Given the description of an element on the screen output the (x, y) to click on. 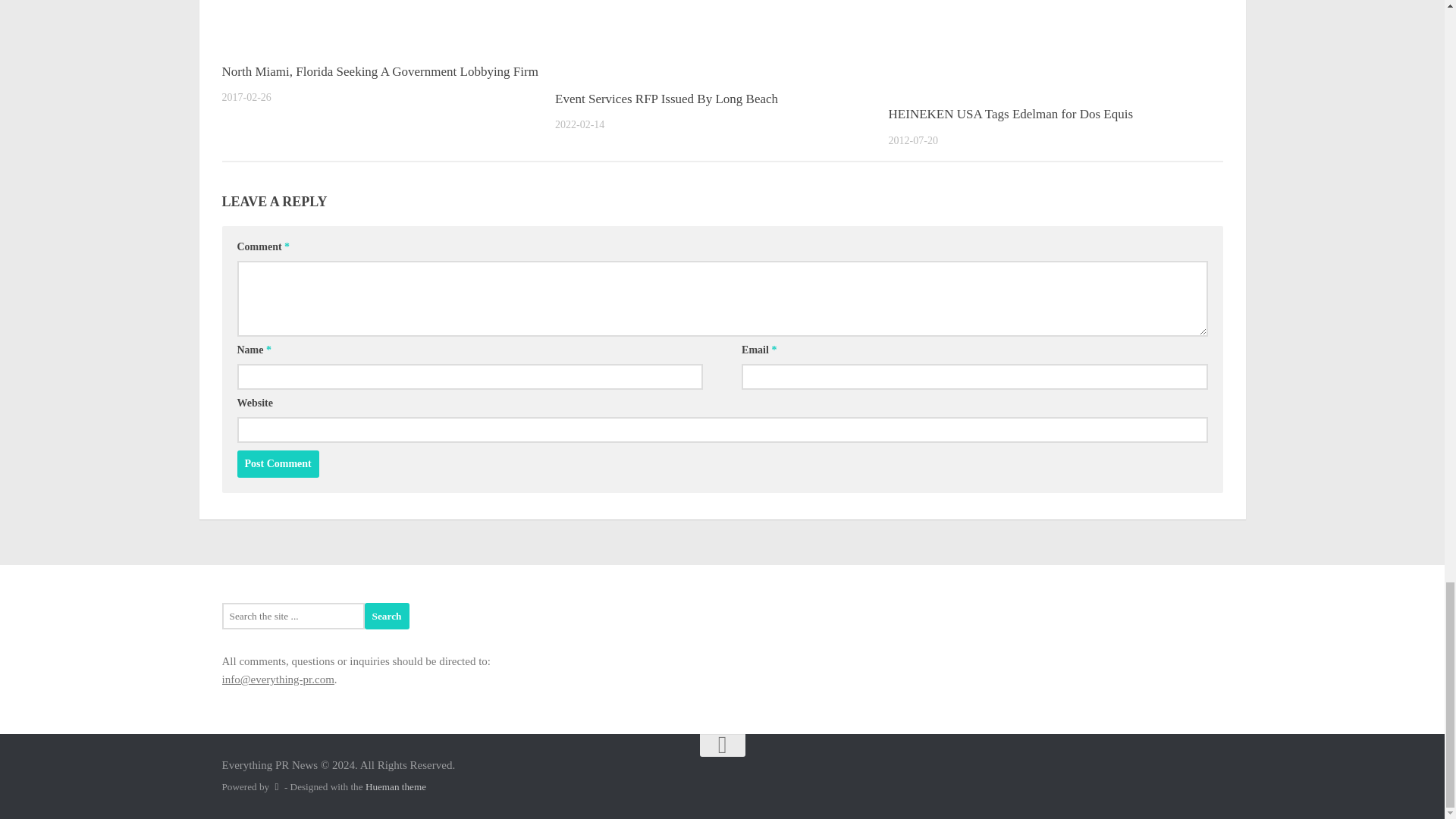
Powered by WordPress (275, 786)
Hueman theme (395, 786)
Post Comment (276, 463)
Search (386, 615)
